Given the description of an element on the screen output the (x, y) to click on. 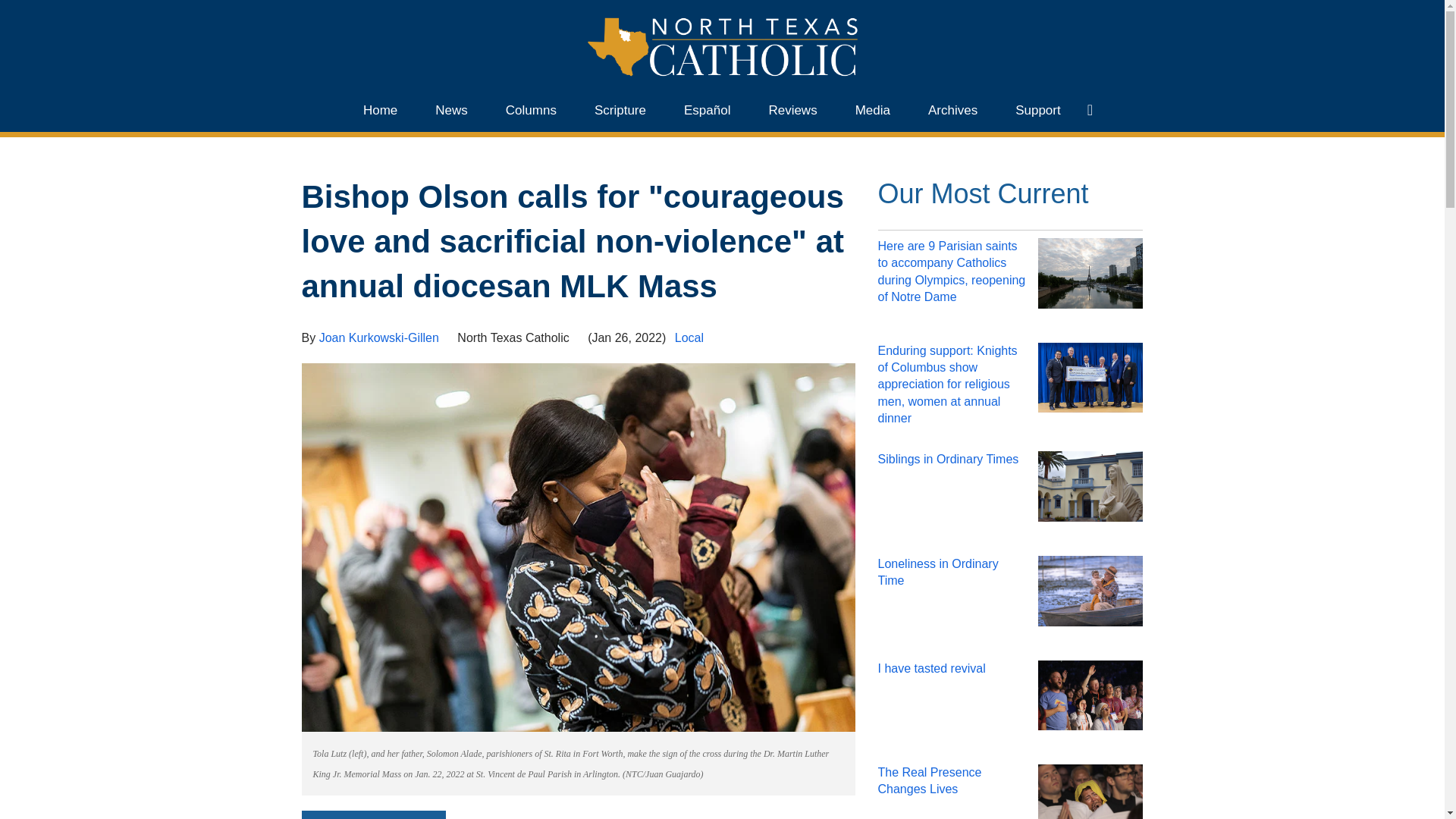
Home (379, 110)
News (451, 110)
Columns (530, 110)
Media (871, 110)
Reviews (792, 110)
Scripture (620, 110)
Archives (951, 110)
Support (1037, 110)
